Given the description of an element on the screen output the (x, y) to click on. 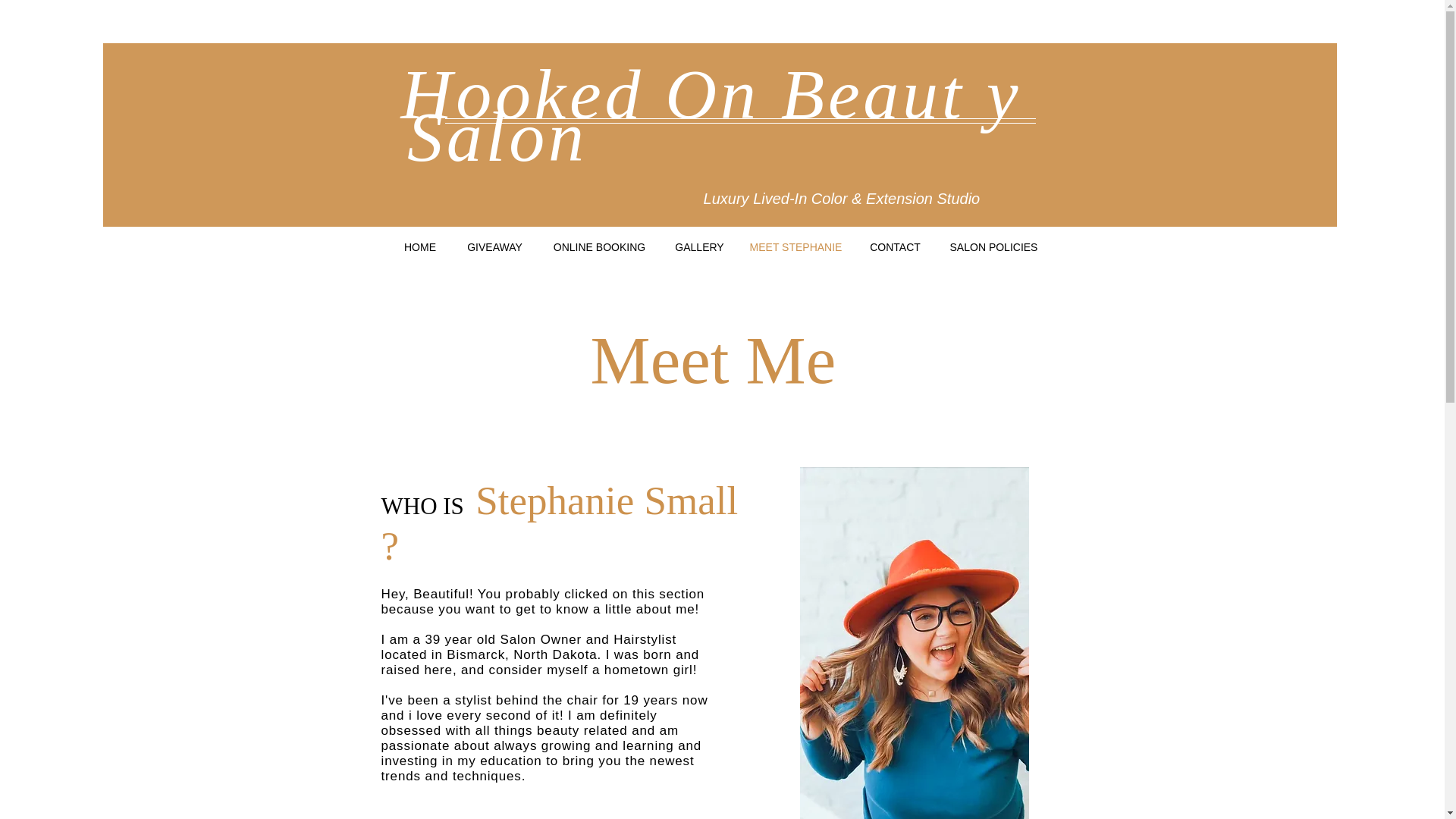
MEET STEPHANIE (794, 247)
GIVEAWAY (494, 247)
GALLERY (698, 247)
SALON POLICIES (993, 247)
HOME (420, 247)
ONLINE BOOKING (599, 247)
CONTACT (894, 247)
